Given the description of an element on the screen output the (x, y) to click on. 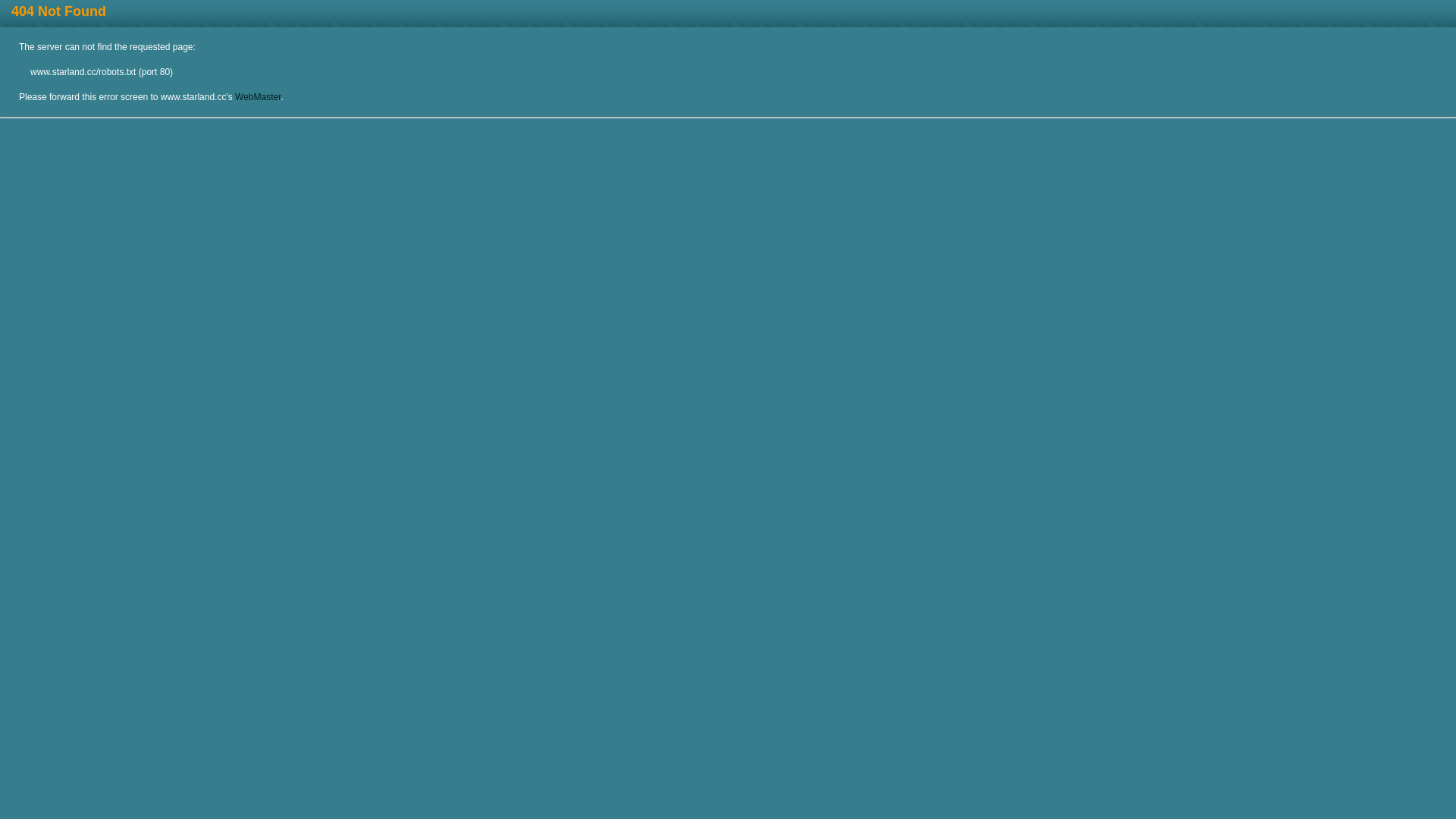
WebMaster Element type: text (257, 96)
